Given the description of an element on the screen output the (x, y) to click on. 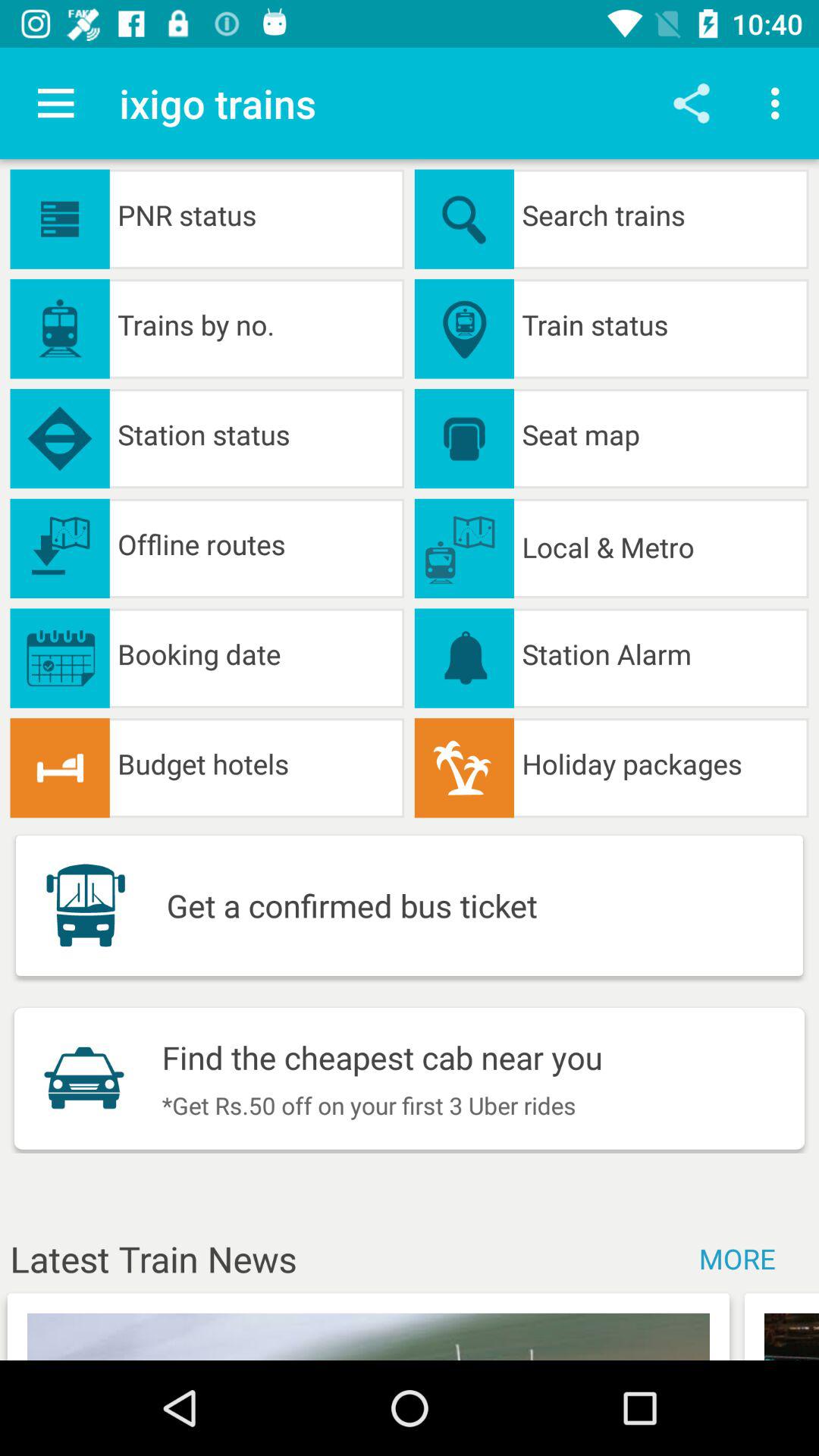
select the item next to the ixigo trains icon (55, 103)
